Given the description of an element on the screen output the (x, y) to click on. 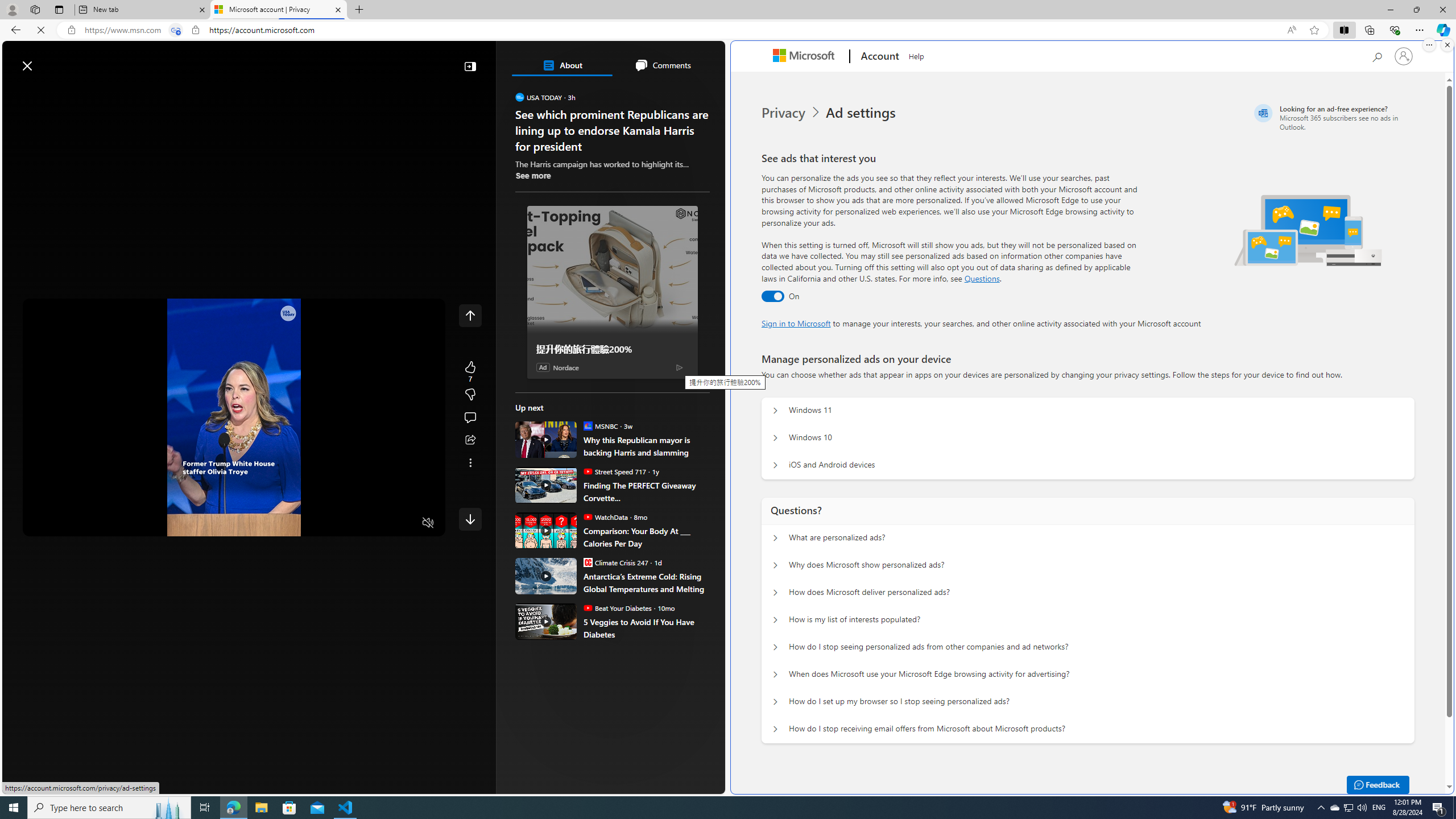
Share this story (469, 440)
Comparison: Your Body At ___ Calories Per Day (545, 529)
Seek Back (62, 523)
Climate Crisis 247 (587, 561)
WatchData (587, 516)
About (561, 64)
Account (878, 56)
